Given the description of an element on the screen output the (x, y) to click on. 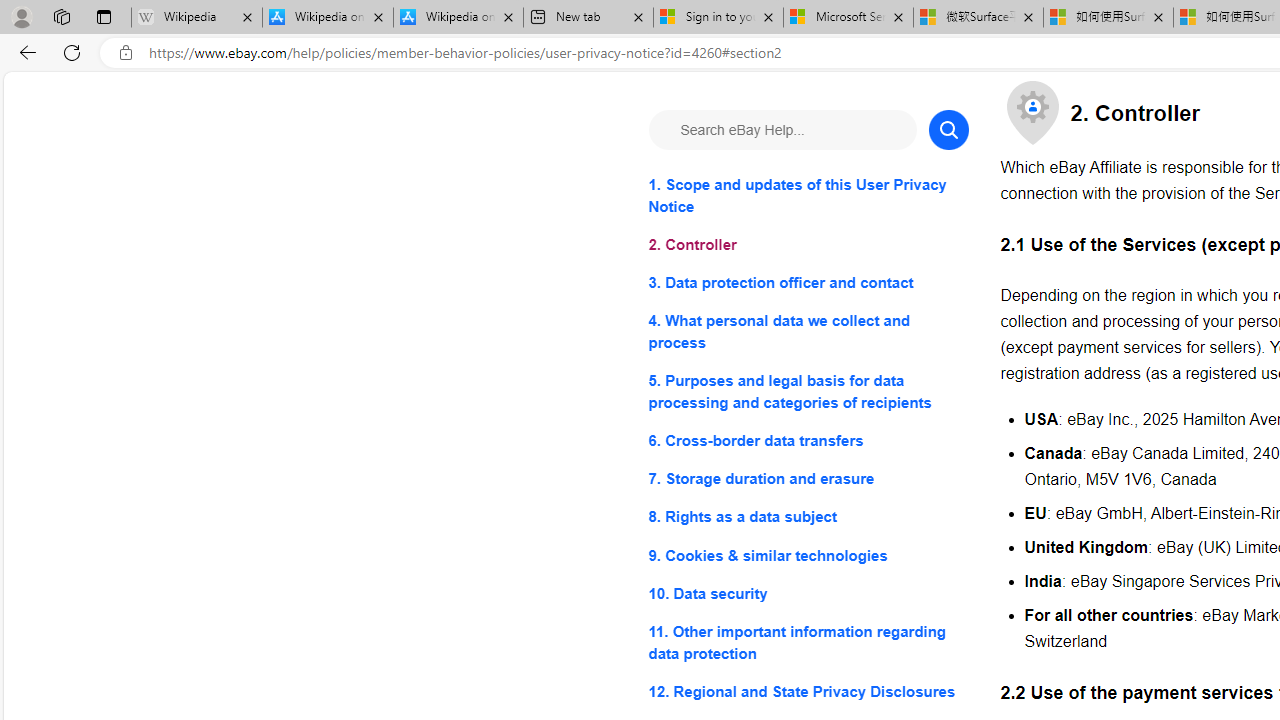
12. Regional and State Privacy Disclosures (807, 690)
9. Cookies & similar technologies (807, 555)
9. Cookies & similar technologies (807, 555)
11. Other important information regarding data protection (807, 642)
3. Data protection officer and contact (807, 283)
11. Other important information regarding data protection (807, 642)
2. Controller (807, 245)
8. Rights as a data subject (807, 517)
12. Regional and State Privacy Disclosures (807, 690)
